Given the description of an element on the screen output the (x, y) to click on. 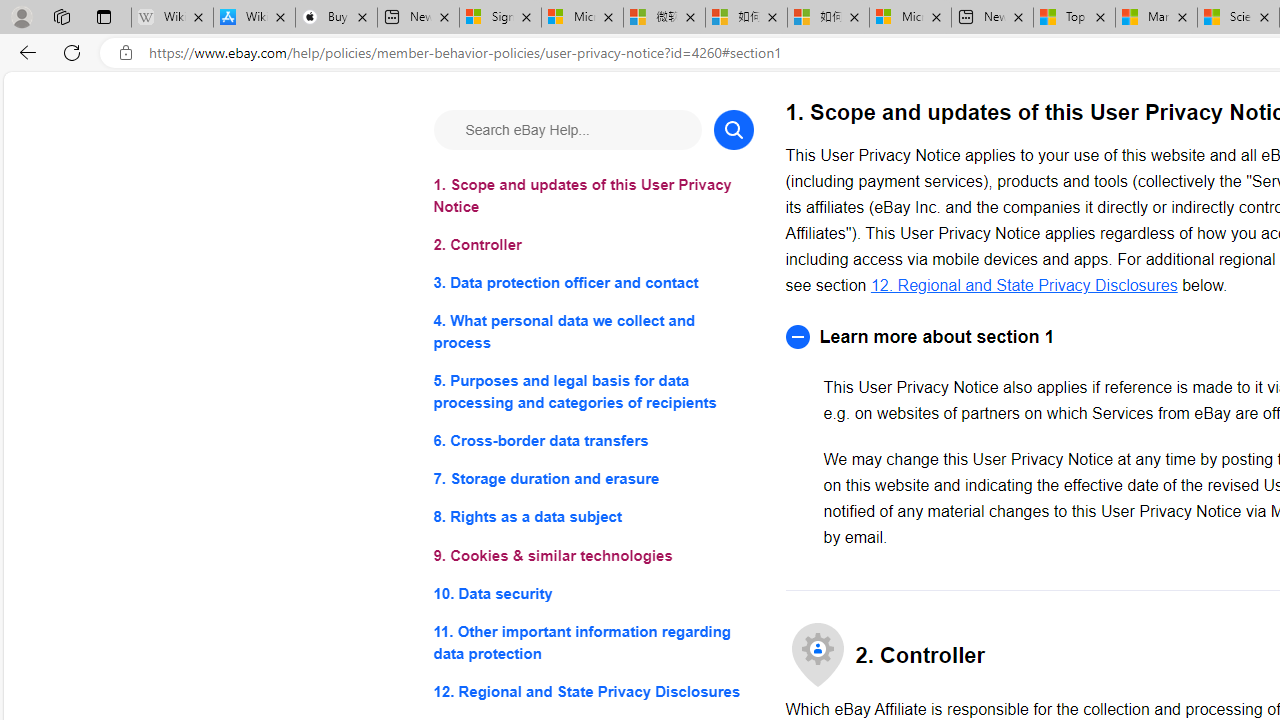
Marine life - MSN (1156, 17)
6. Cross-border data transfers (592, 440)
7. Storage duration and erasure (592, 479)
Microsoft account | Account Checkup (910, 17)
2. Controller (592, 245)
4. What personal data we collect and process (592, 332)
11. Other important information regarding data protection (592, 642)
Buy iPad - Apple (336, 17)
